Given the description of an element on the screen output the (x, y) to click on. 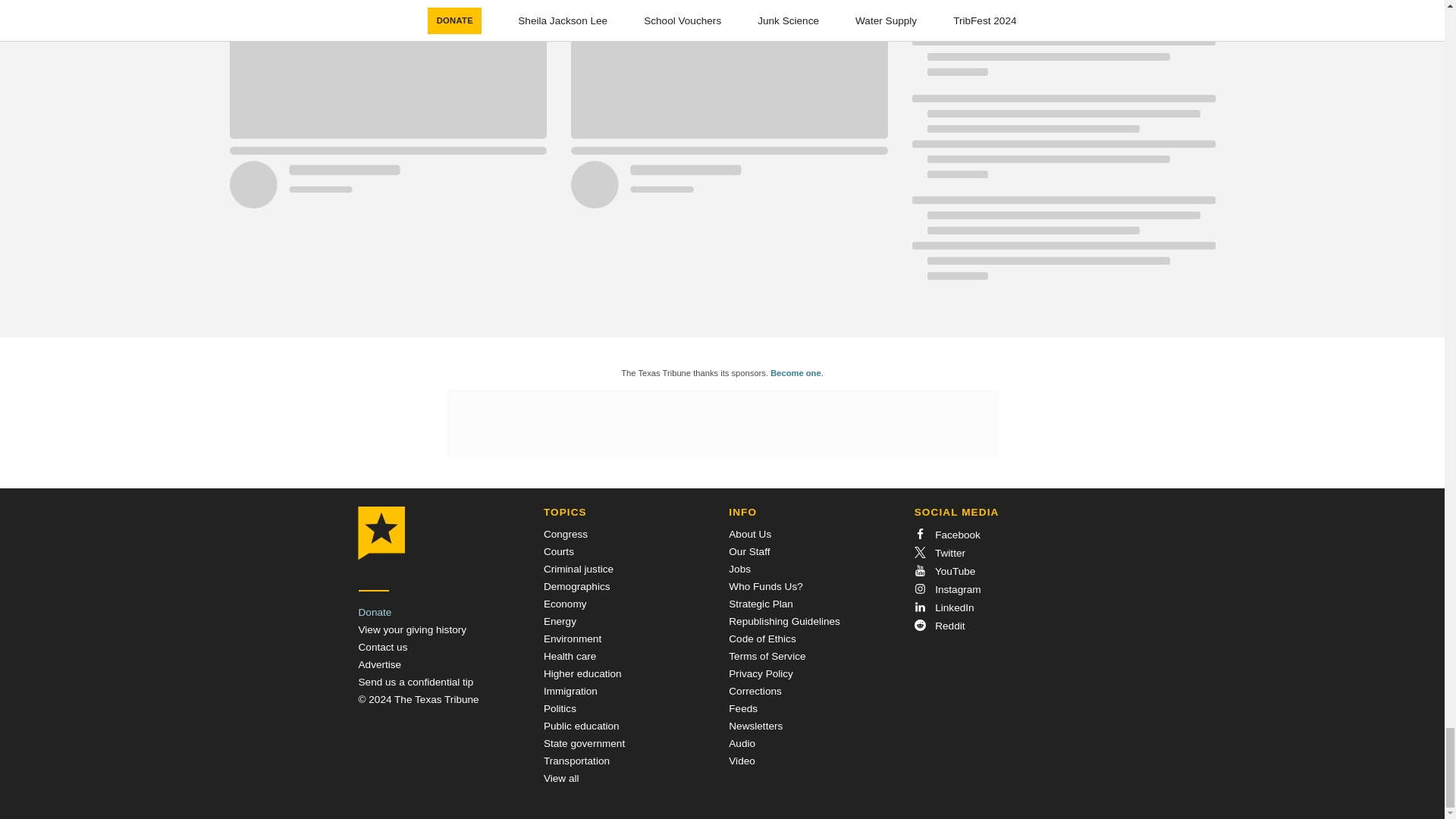
Audio (742, 743)
Newsletters (756, 726)
Terms of Service (767, 655)
Advertise (379, 664)
View your giving history (411, 629)
Send a Tip (415, 681)
Republishing Guidelines (784, 621)
About Us (750, 533)
Video (742, 760)
Code of Ethics (761, 638)
